Given the description of an element on the screen output the (x, y) to click on. 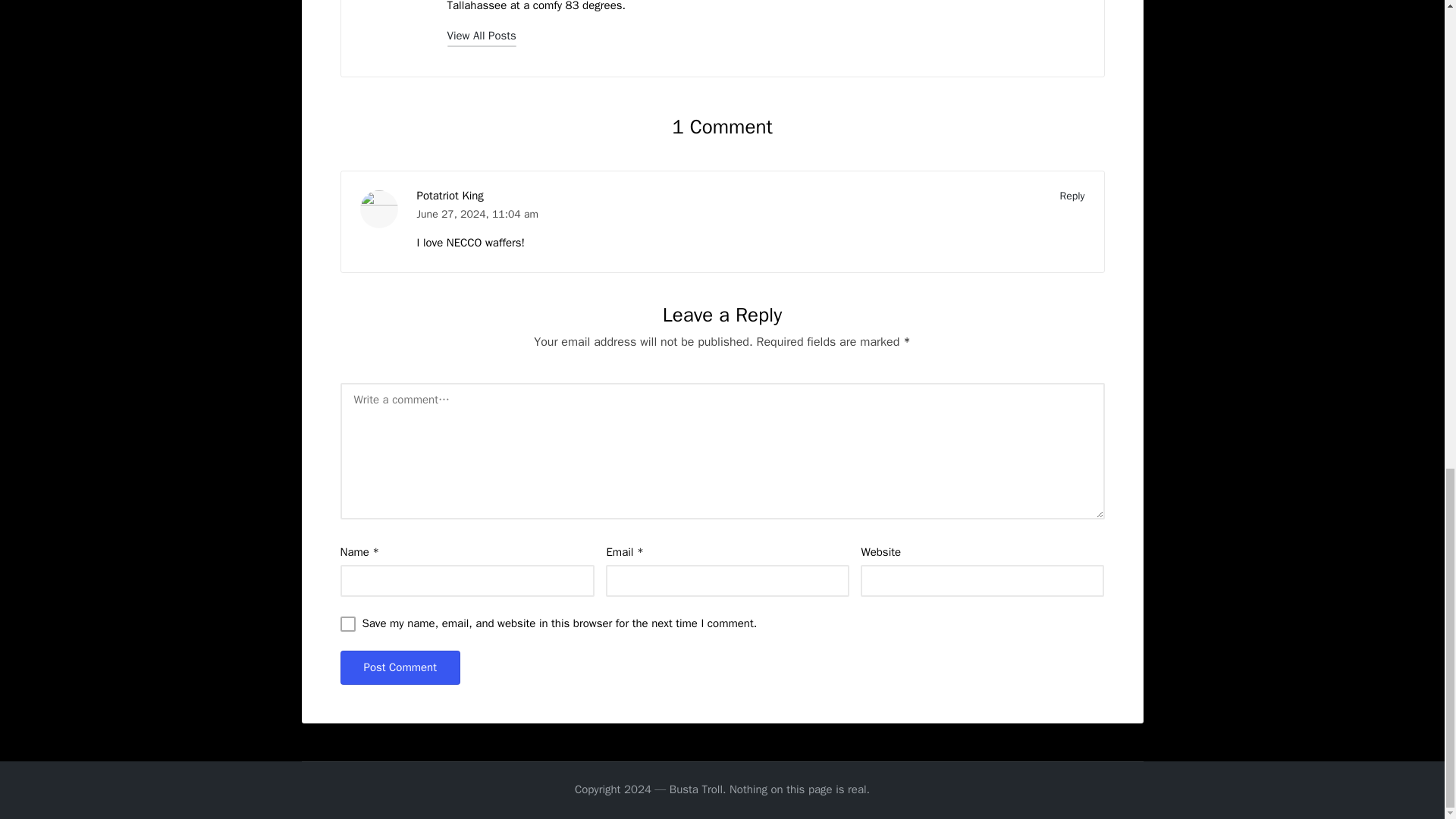
Post Comment (399, 667)
Post Comment (399, 667)
Reply (1071, 195)
Potatriot King (449, 195)
View All Posts (481, 35)
yes (347, 623)
11:04 am (515, 214)
